Given the description of an element on the screen output the (x, y) to click on. 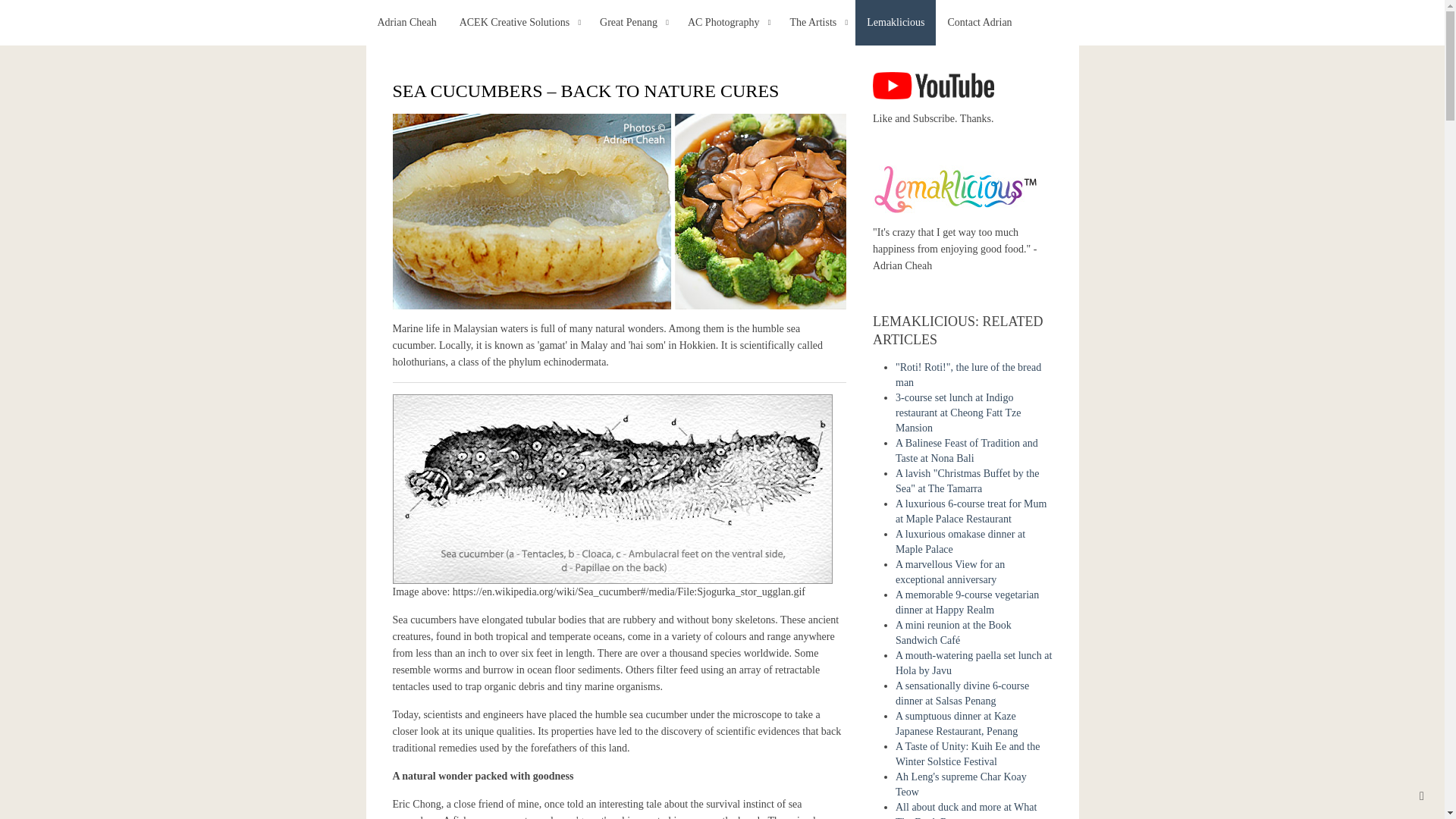
"Roti! Roti!", the lure of the bread man (968, 374)
ACEK Creative Solutions (518, 22)
A mouth-watering paella set lunch at Hola by Javu (973, 663)
AC Photography (727, 22)
The Artists (816, 22)
Adrian Cheah (405, 22)
A memorable 9-course vegetarian dinner at Happy Realm (967, 601)
Great Penang (632, 22)
Contact Adrian (979, 22)
Lemaklicious (955, 188)
YouTube Channel (933, 84)
A luxurious omakase dinner at Maple Palace (960, 541)
A lavish "Christmas Buffet by the Sea" at The Tamarra (967, 480)
